Given the description of an element on the screen output the (x, y) to click on. 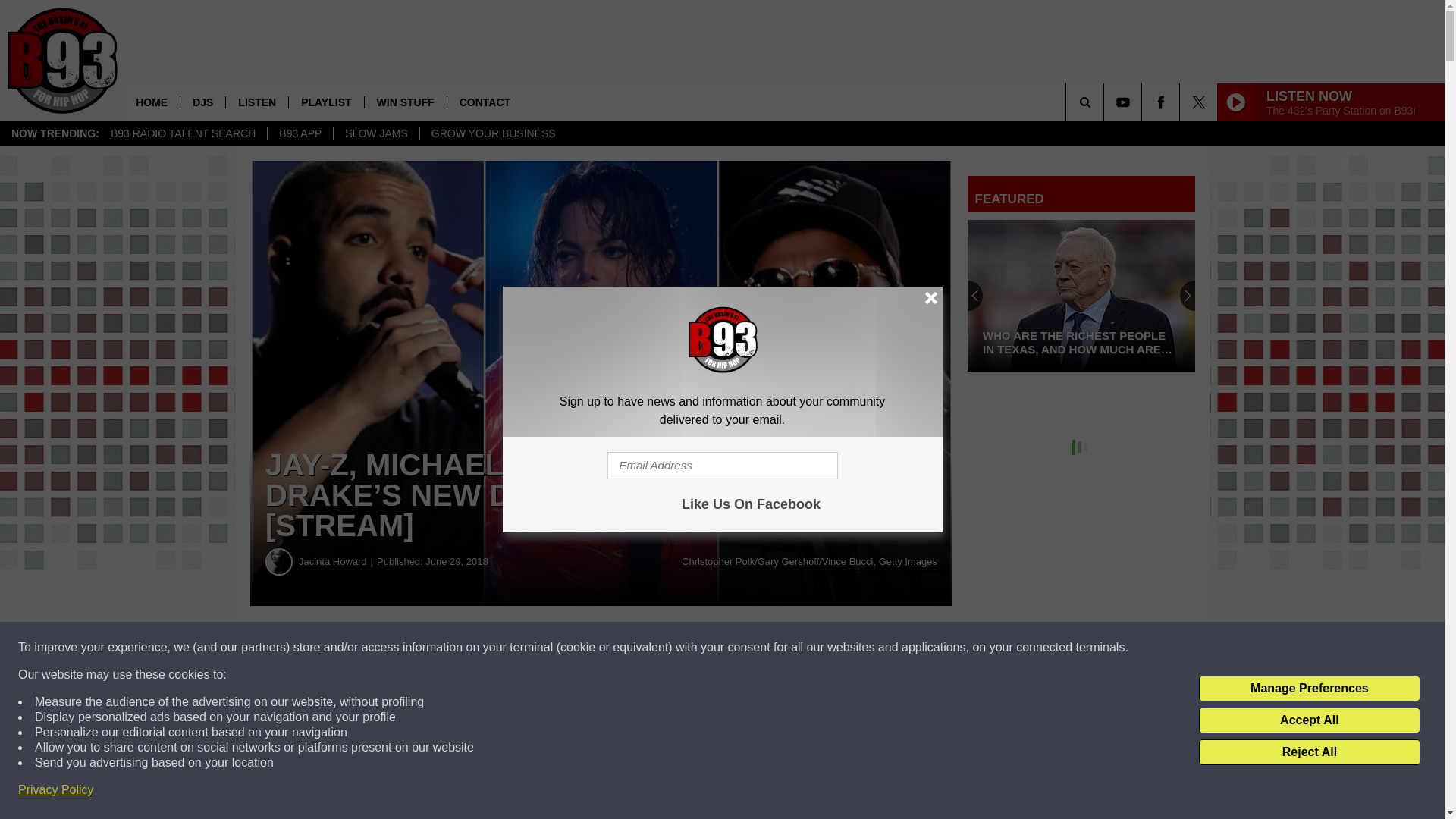
LISTEN (256, 102)
SEARCH (1106, 102)
DJS (202, 102)
PLAYLIST (325, 102)
B93 APP (299, 133)
Share on Twitter (741, 647)
WIN STUFF (405, 102)
GROW YOUR BUSINESS (493, 133)
CONTACT (484, 102)
Share on Facebook (460, 647)
Email Address (722, 465)
B93 RADIO TALENT SEARCH (182, 133)
HOME (151, 102)
Reject All (1309, 751)
SEARCH (1106, 102)
